Given the description of an element on the screen output the (x, y) to click on. 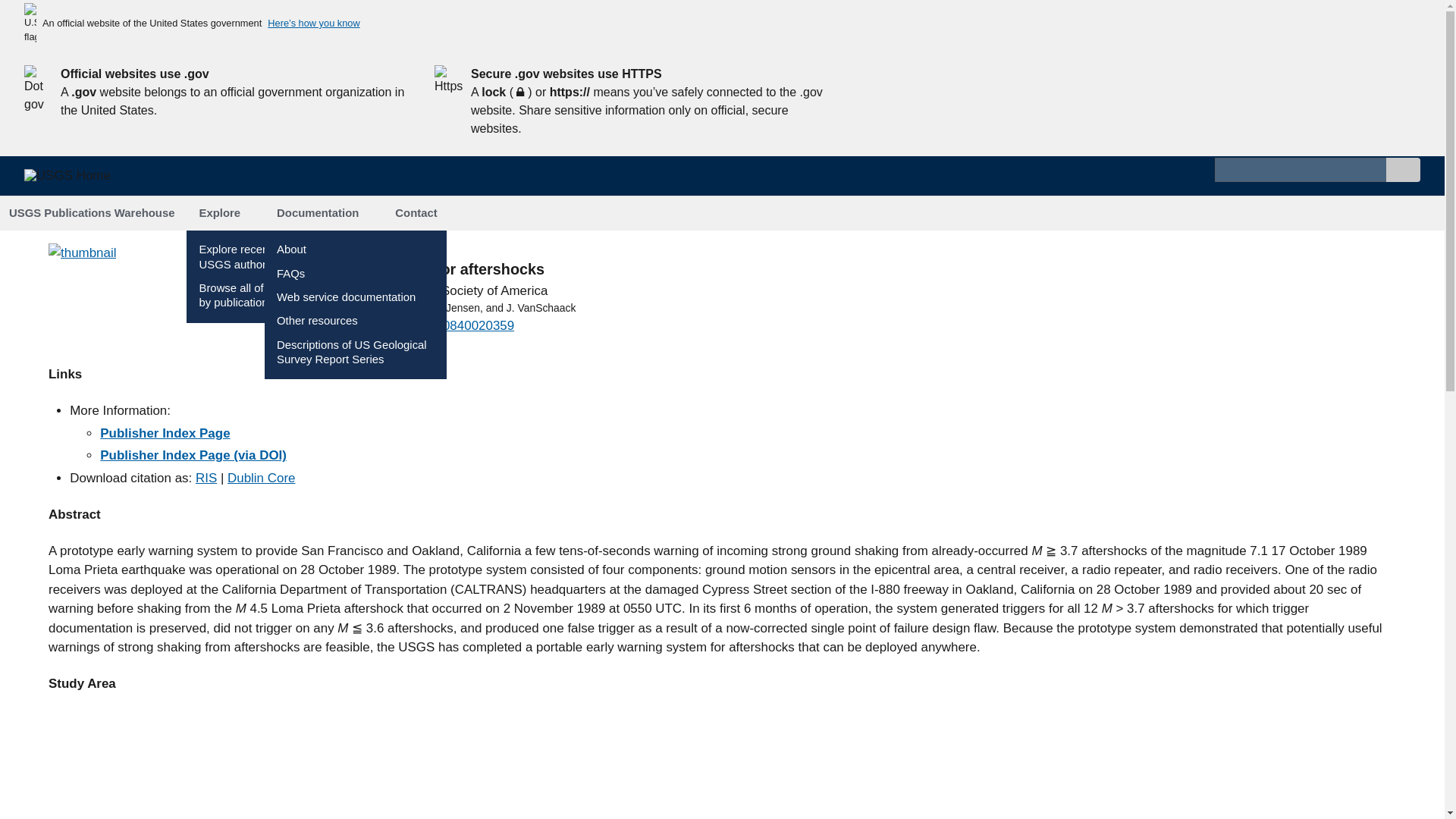
RIS (205, 477)
Explore (225, 213)
Contact (415, 213)
FAQs (290, 273)
 Index Page (165, 432)
Go to Publisher Index Page for more information (82, 252)
Other resources (317, 320)
 Index Page (193, 454)
USGS Publications Warehouse (93, 213)
Home (73, 181)
